Given the description of an element on the screen output the (x, y) to click on. 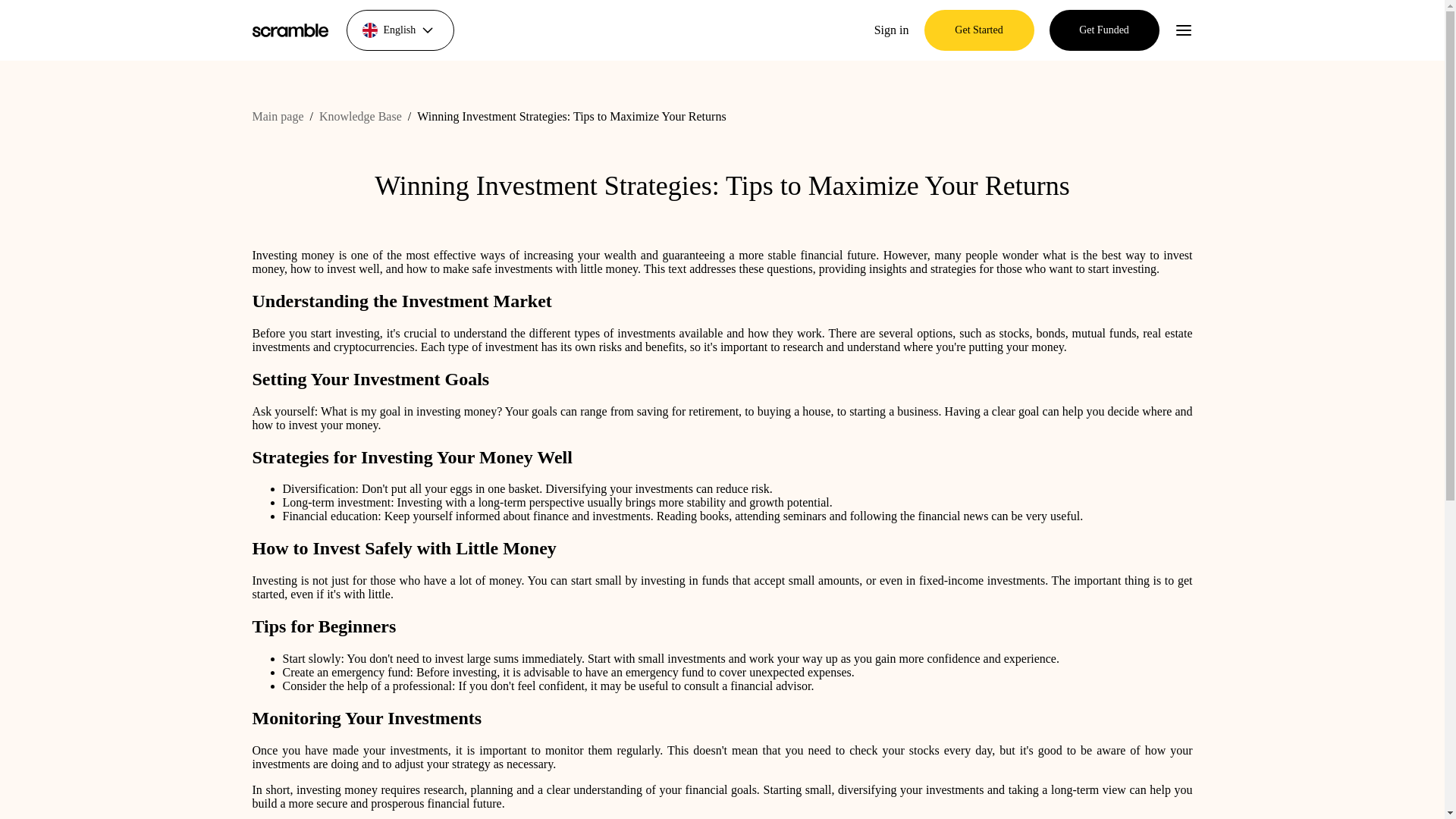
Sign in (891, 29)
Main page (276, 115)
Get Funded (1103, 29)
Get Started (978, 29)
Knowledge Base (359, 115)
English (399, 29)
